Given the description of an element on the screen output the (x, y) to click on. 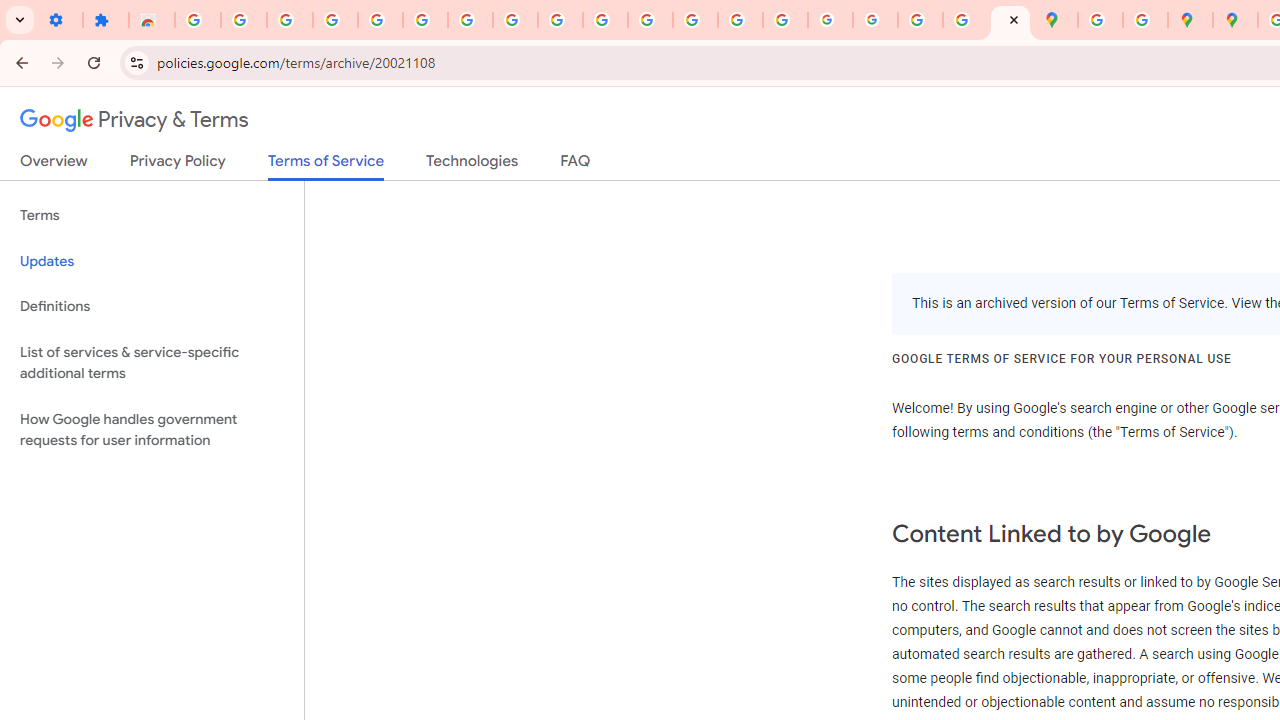
https://scholar.google.com/ (650, 20)
Settings - On startup (60, 20)
Google Account (514, 20)
Extensions (106, 20)
